Given the description of an element on the screen output the (x, y) to click on. 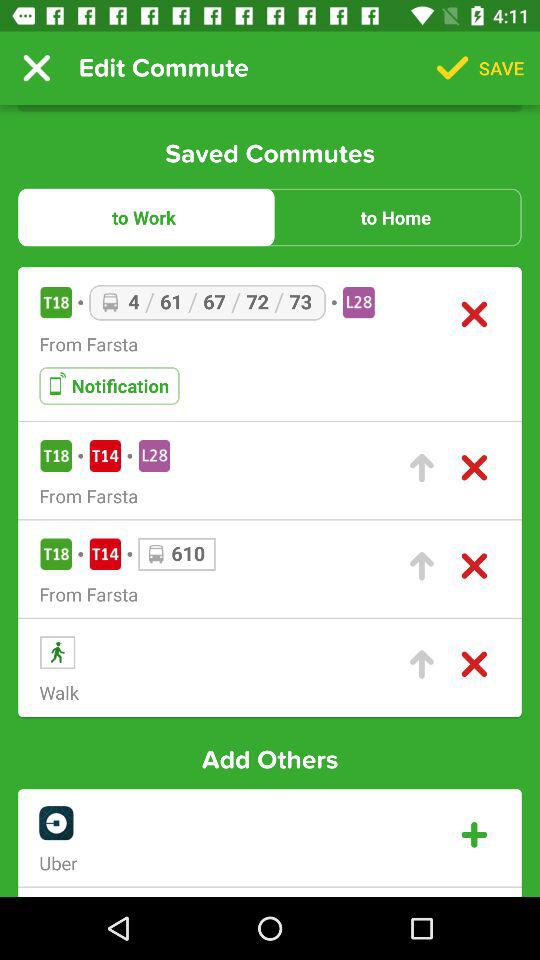
add option (474, 834)
